Given the description of an element on the screen output the (x, y) to click on. 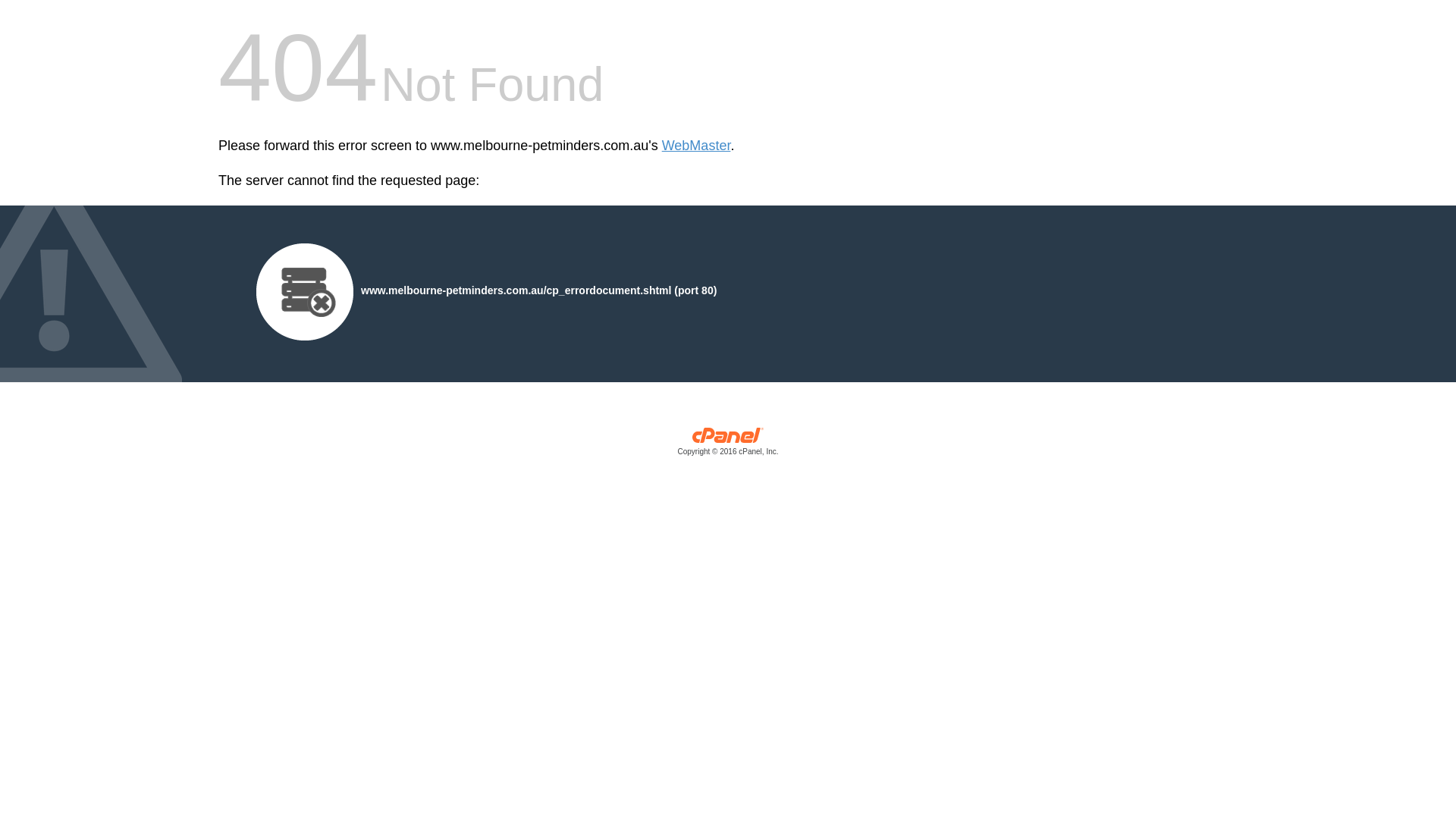
WebMaster Element type: text (696, 145)
